Given the description of an element on the screen output the (x, y) to click on. 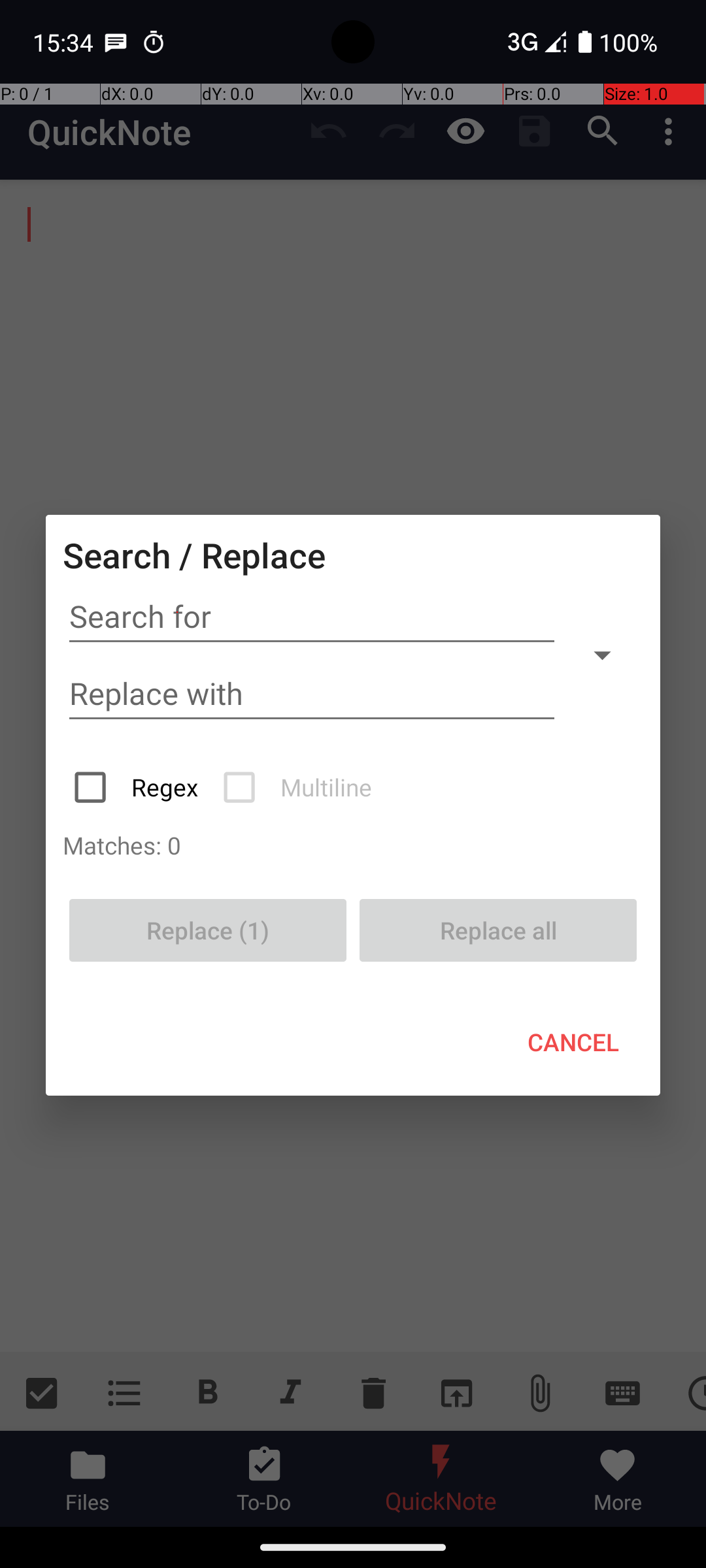
Search for Element type: android.widget.EditText (311, 616)
Replace with Element type: android.widget.EditText (311, 693)
